Given the description of an element on the screen output the (x, y) to click on. 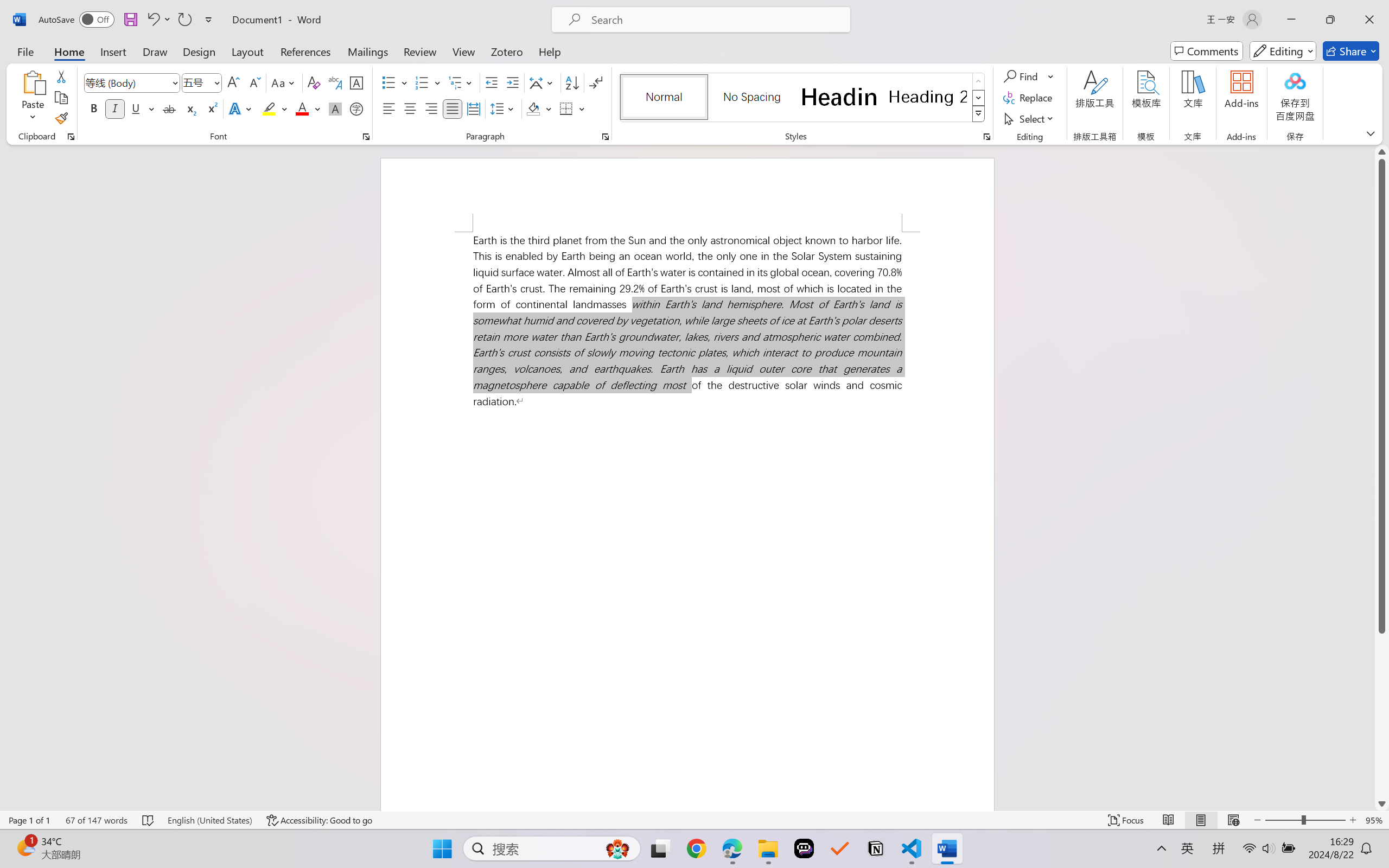
Clear Formatting (313, 82)
Styles (978, 113)
Line and Paragraph Spacing (503, 108)
Increase Indent (512, 82)
Multilevel List (461, 82)
Page Number Page 1 of 1 (29, 819)
Shrink Font (253, 82)
Grow Font (233, 82)
